Given the description of an element on the screen output the (x, y) to click on. 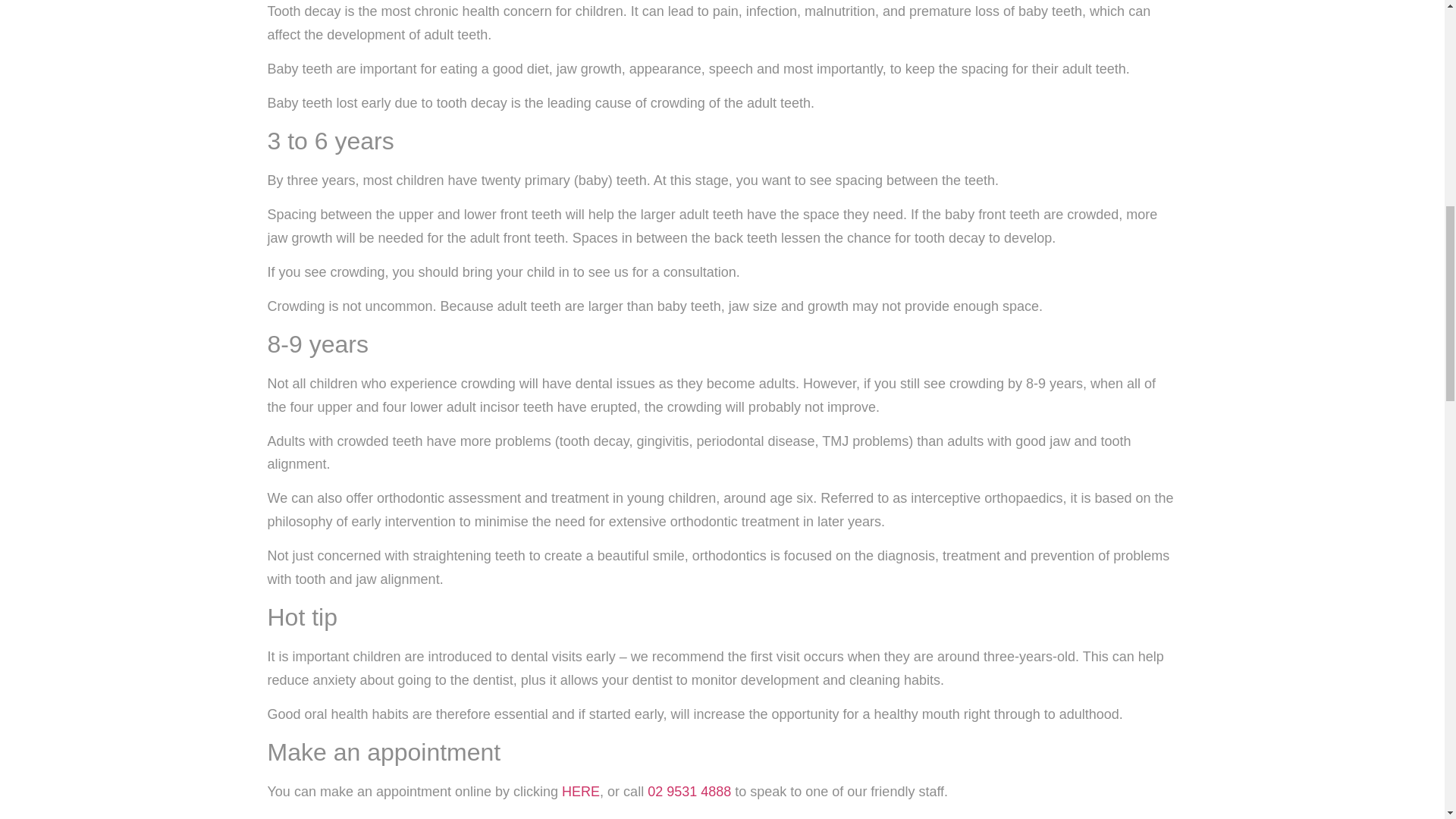
Click to Call (688, 791)
Book an appointment online (580, 791)
02 9531 4888 (688, 791)
HERE (580, 791)
